Given the description of an element on the screen output the (x, y) to click on. 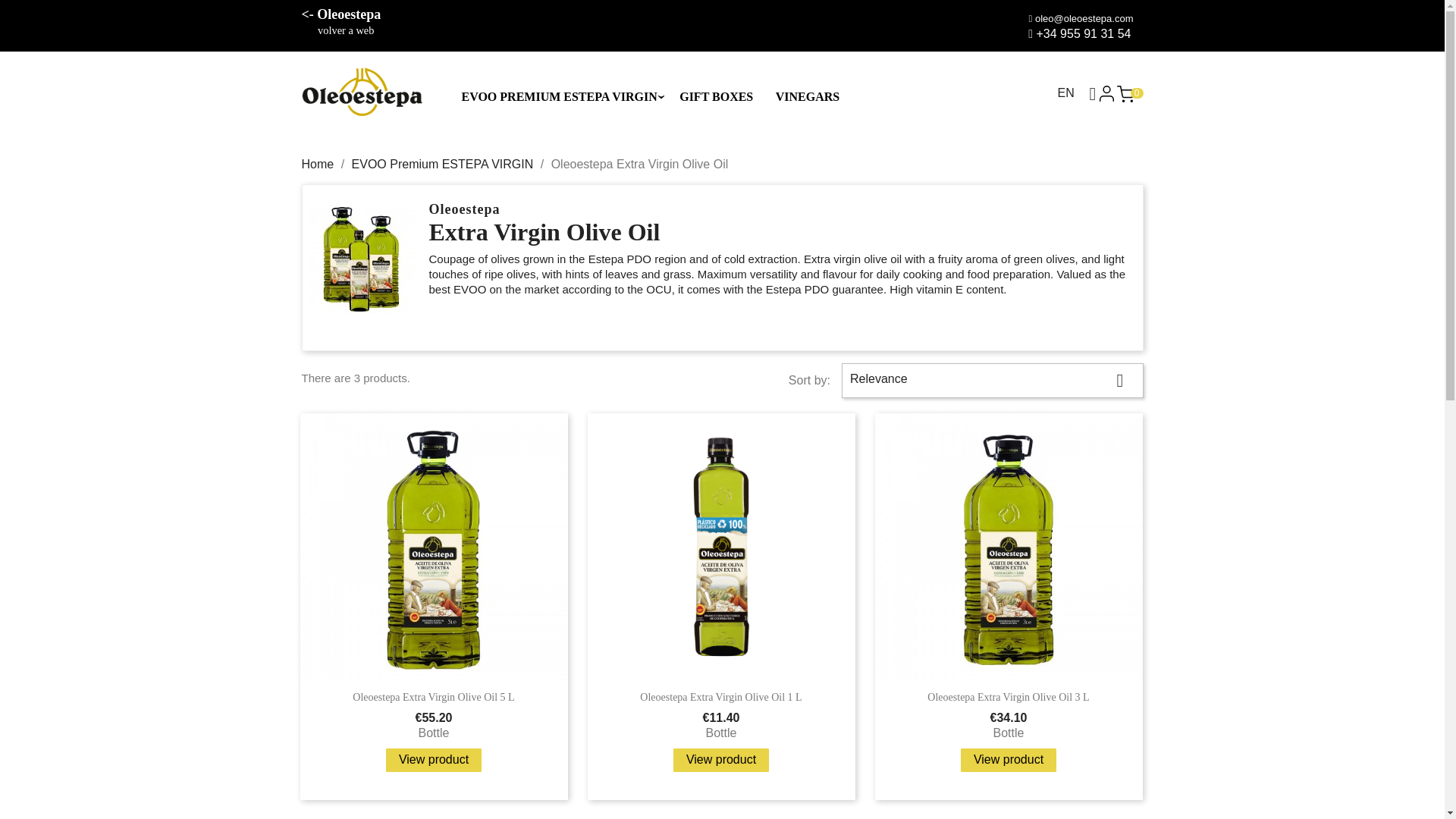
Home (317, 164)
EVOO Premium ESTEPA VIRGIN (443, 164)
Oleoestepa Extra Virgin Olive Oil 3 L (1008, 696)
GIFT BOXES (715, 100)
Oleoestepa Extra Virgin Olive Oil 1 L (721, 696)
EVOO PREMIUM ESTEPA VIRGIN (558, 91)
View product (720, 760)
View product (1008, 760)
VINEGARS (806, 100)
View product (433, 760)
